Given the description of an element on the screen output the (x, y) to click on. 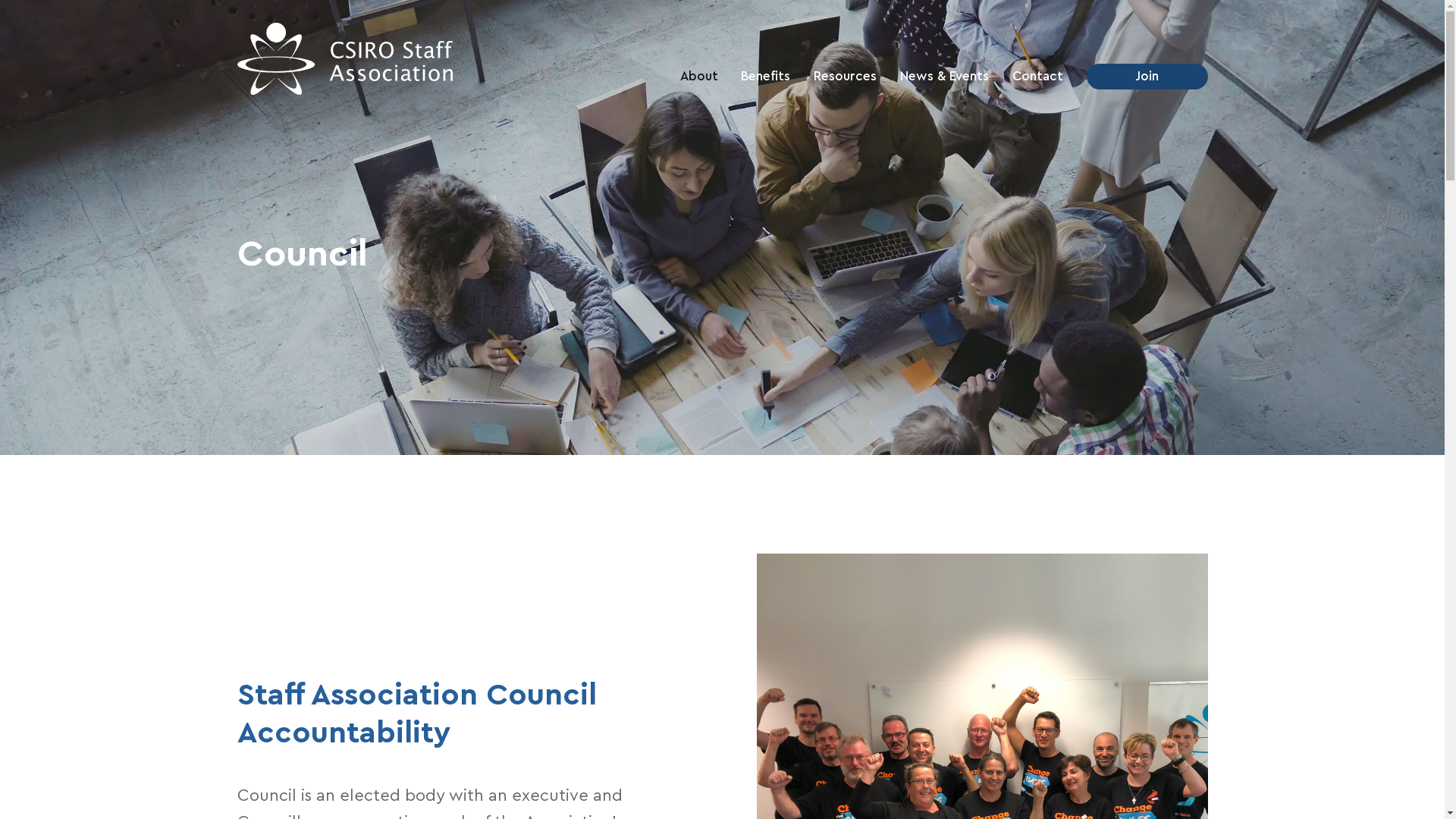
Resources Element type: text (844, 76)
Benefits Element type: text (765, 76)
CSIRO Staff Association logo Element type: hover (343, 58)
Contact Element type: text (1037, 76)
News & Events Element type: text (944, 76)
About Element type: text (699, 76)
Join Element type: text (1146, 76)
